Given the description of an element on the screen output the (x, y) to click on. 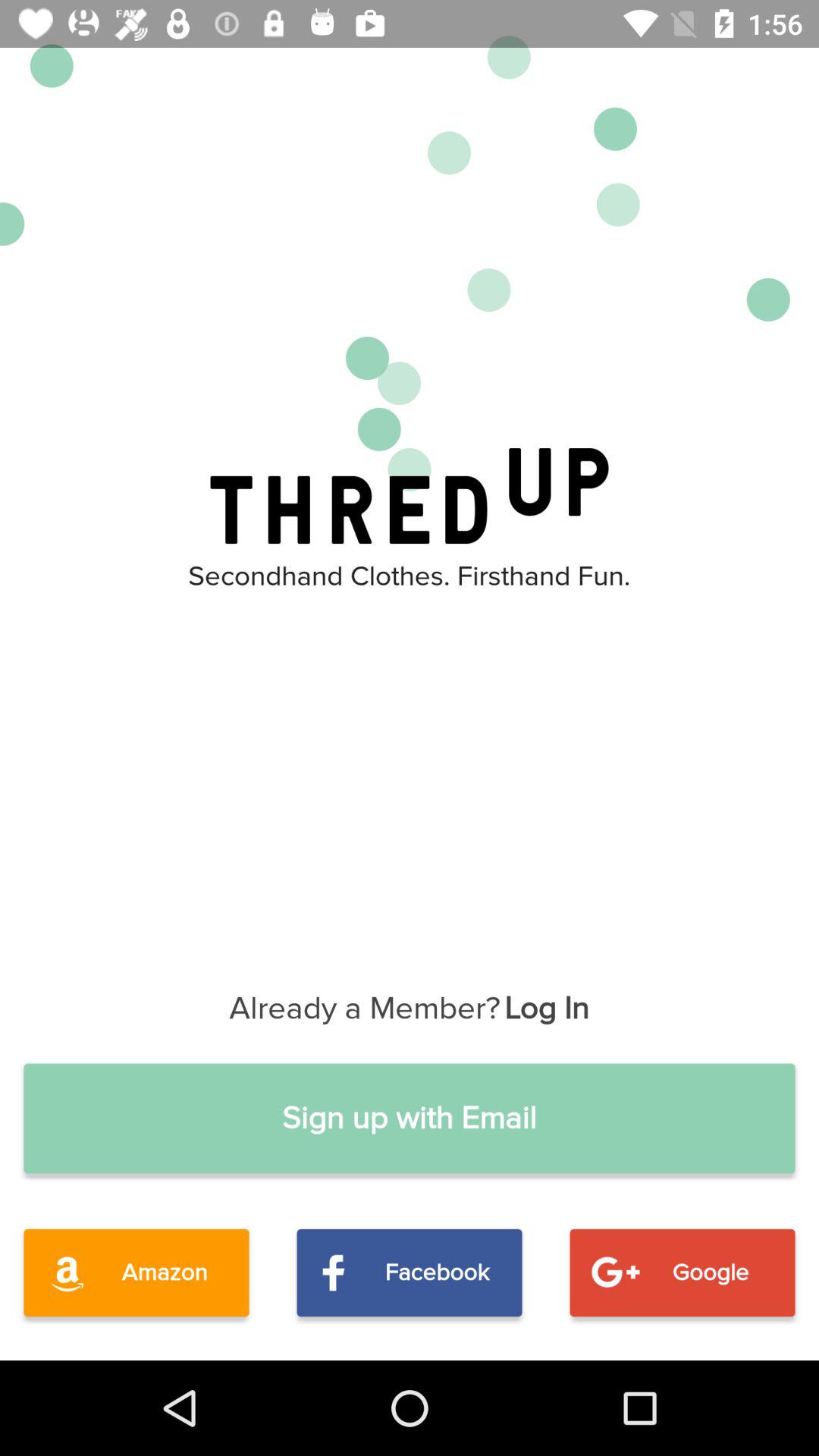
press the icon next to facebook (682, 1272)
